Given the description of an element on the screen output the (x, y) to click on. 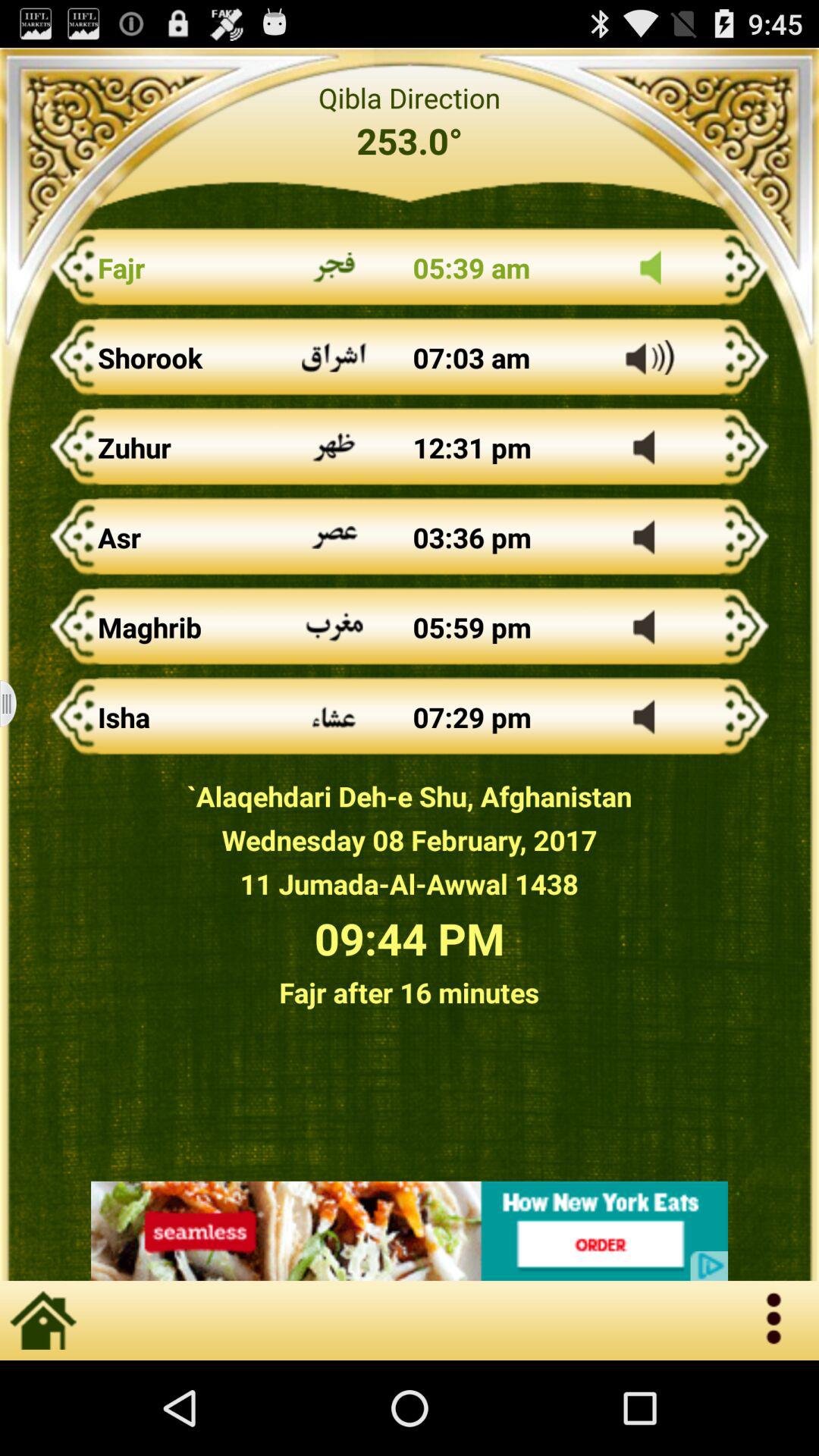
know about the advertisement (409, 1230)
